Given the description of an element on the screen output the (x, y) to click on. 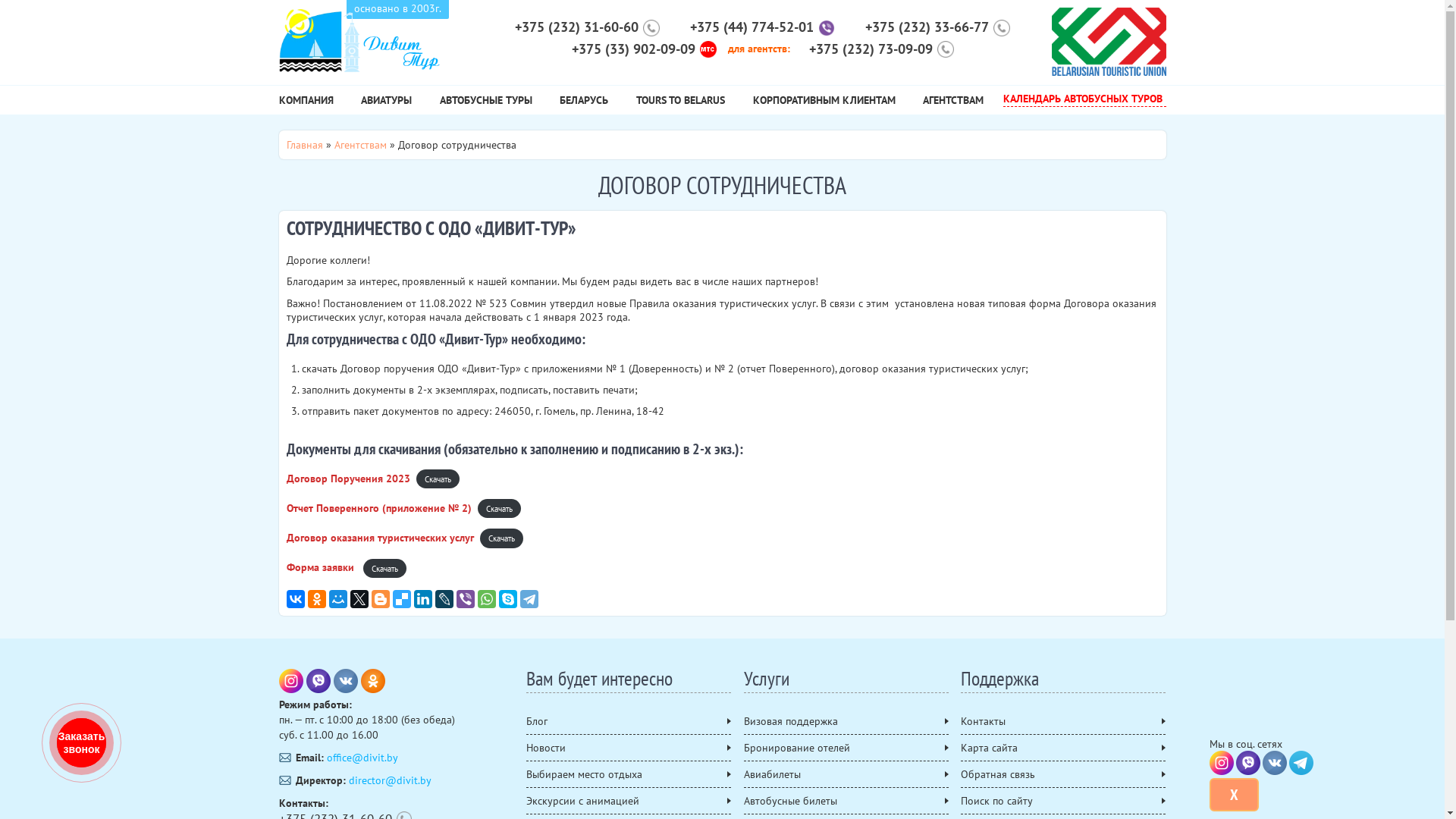
TOURS TO BELARUS Element type: text (680, 103)
Viber Element type: hover (465, 598)
+375 (232) 73-09-09 Element type: text (877, 49)
Telegram Element type: hover (1301, 762)
Delicious Element type: hover (401, 598)
Skype Element type: hover (507, 598)
Telegram Element type: hover (529, 598)
+375 (44) 774-52-01 Element type: text (758, 27)
WhatsApp Element type: hover (486, 598)
director@divit.by Element type: text (389, 780)
+375 (232) 31-60-60 Element type: text (583, 27)
Viber Element type: hover (1248, 762)
Blogger Element type: hover (380, 598)
office@divit.by Element type: text (361, 757)
VK Element type: hover (345, 680)
LinkedIn Element type: hover (423, 598)
X Element type: text (1233, 794)
Twitter Element type: hover (359, 598)
+375 (33) 902-09-09 Element type: text (640, 49)
LiveJournal Element type: hover (444, 598)
Viber Element type: hover (318, 680)
OK Element type: hover (372, 680)
+375 (232) 33-66-77 Element type: text (933, 27)
VK Element type: hover (1274, 762)
